Given the description of an element on the screen output the (x, y) to click on. 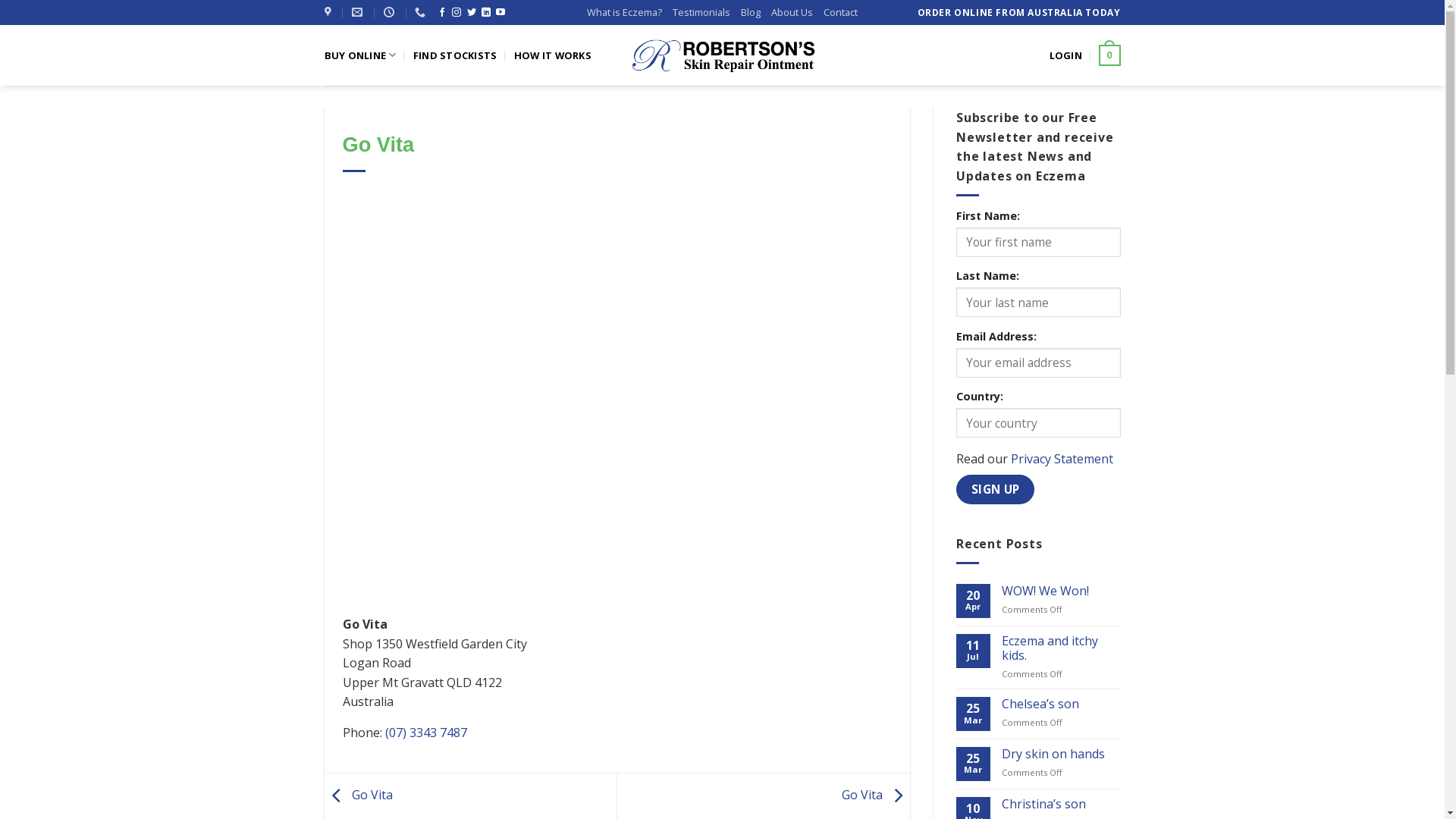
BUY ONLINE Element type: text (360, 55)
Testimonials Element type: text (701, 11)
Follow on Instagram Element type: hover (456, 12)
Blog Element type: text (750, 11)
08:00 - 17:00 | Monday to Friday  Element type: hover (390, 12)
0 Element type: text (1109, 55)
Eczema and itchy kids. Element type: text (1060, 647)
What is Eczema? Element type: text (624, 11)
Follow on YouTube Element type: hover (500, 12)
About Us Element type: text (791, 11)
LOGIN Element type: text (1065, 55)
Go Vita Element type: text (358, 794)
Go Vita Element type: text (875, 794)
Privacy Statement Element type: text (1061, 458)
P.O. Box 371, Mount Compass SA 5210 Element type: hover (329, 12)
Sign up Element type: text (995, 489)
(07) 3343 7487 Element type: text (426, 732)
WOW! We Won! Element type: text (1060, 590)
Eczema Cream - Robertson's Eczema Relief Element type: hover (722, 54)
Follow on Facebook Element type: hover (441, 12)
+61 8 8556 8113 Element type: hover (421, 12)
FIND STOCKISTS Element type: text (455, 55)
robertsons@esc.net.au Element type: hover (358, 12)
Contact Element type: text (840, 11)
HOW IT WORKS Element type: text (552, 55)
Dry skin on hands Element type: text (1060, 753)
Follow on Twitter Element type: hover (471, 12)
Follow on LinkedIn Element type: hover (485, 12)
